Given the description of an element on the screen output the (x, y) to click on. 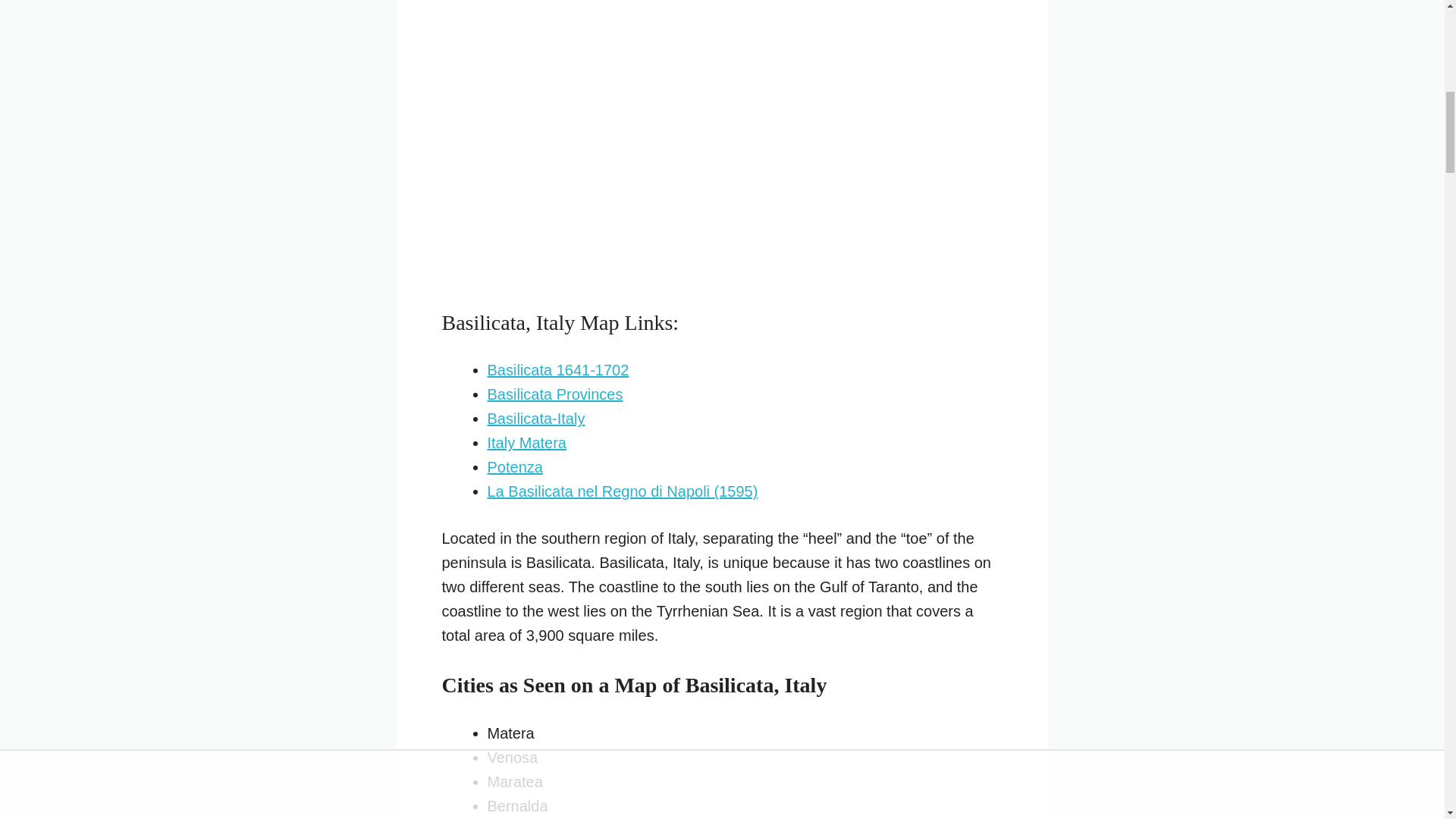
Basilicata-Italy (535, 418)
Basilicata 1641-1702 (557, 369)
Potenza (513, 466)
Basilicata Provinces (554, 393)
Italy Matera (526, 442)
